Given the description of an element on the screen output the (x, y) to click on. 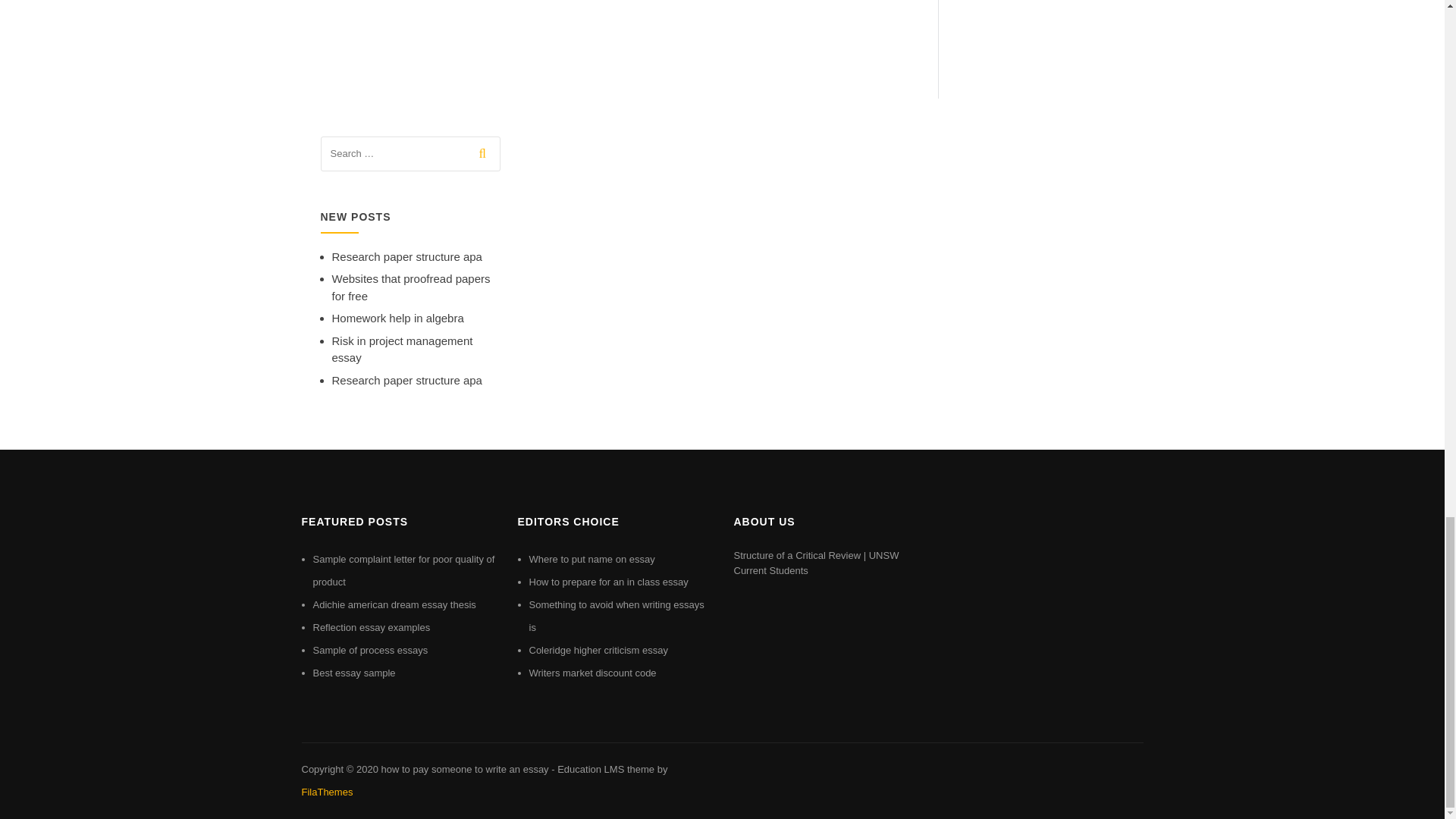
Research paper structure apa (406, 256)
Where to put name on essay (592, 559)
Risk in project management essay (402, 349)
how to pay someone to write an essay (464, 768)
Writers market discount code (592, 672)
Best essay sample (353, 672)
Homework help in algebra (397, 318)
how to pay someone to write an essay (464, 768)
Coleridge higher criticism essay (598, 650)
How to prepare for an in class essay (608, 582)
